Given the description of an element on the screen output the (x, y) to click on. 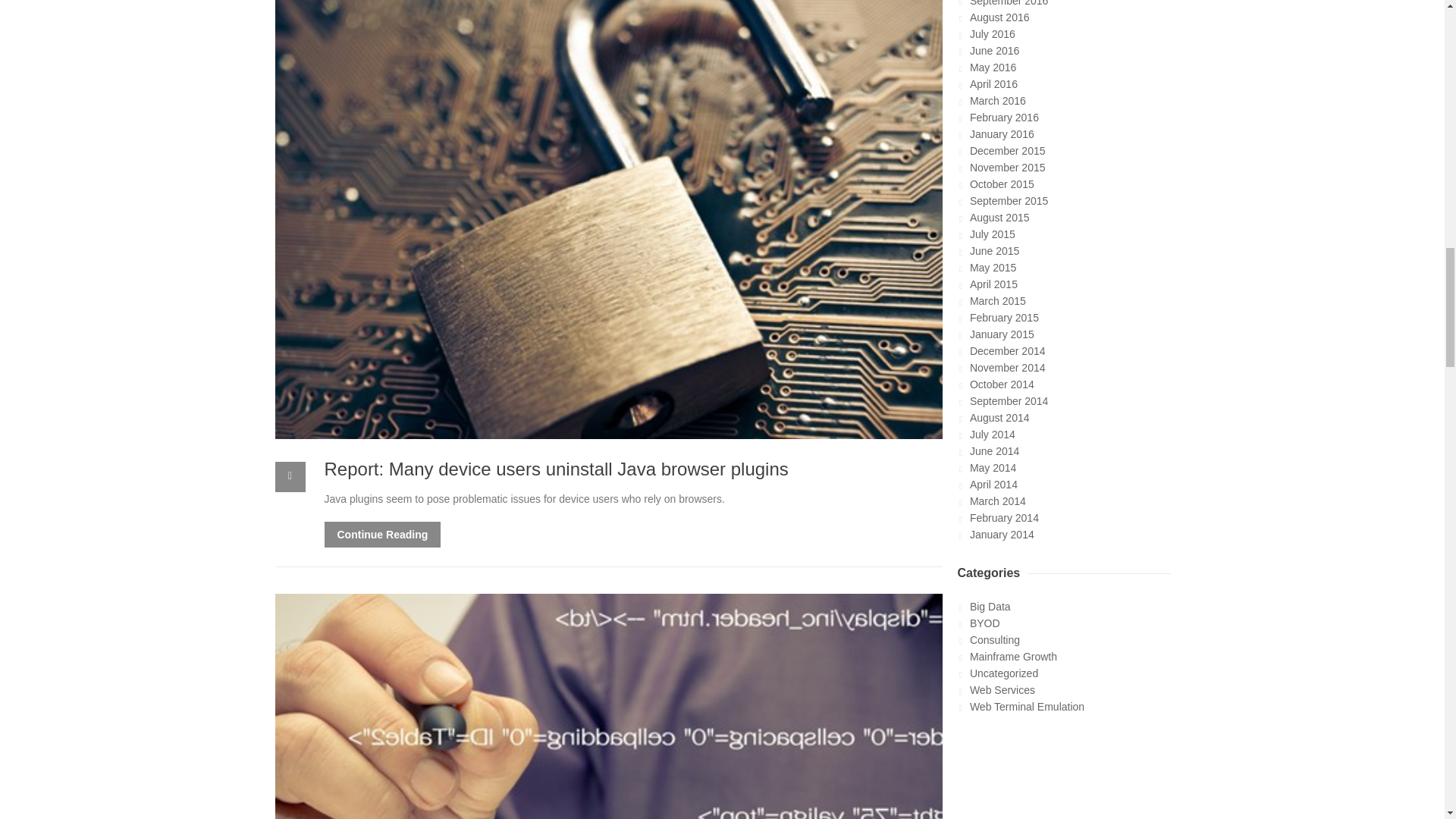
Continue Reading (382, 534)
Report: Many device users uninstall Java browser plugins (556, 468)
